Given the description of an element on the screen output the (x, y) to click on. 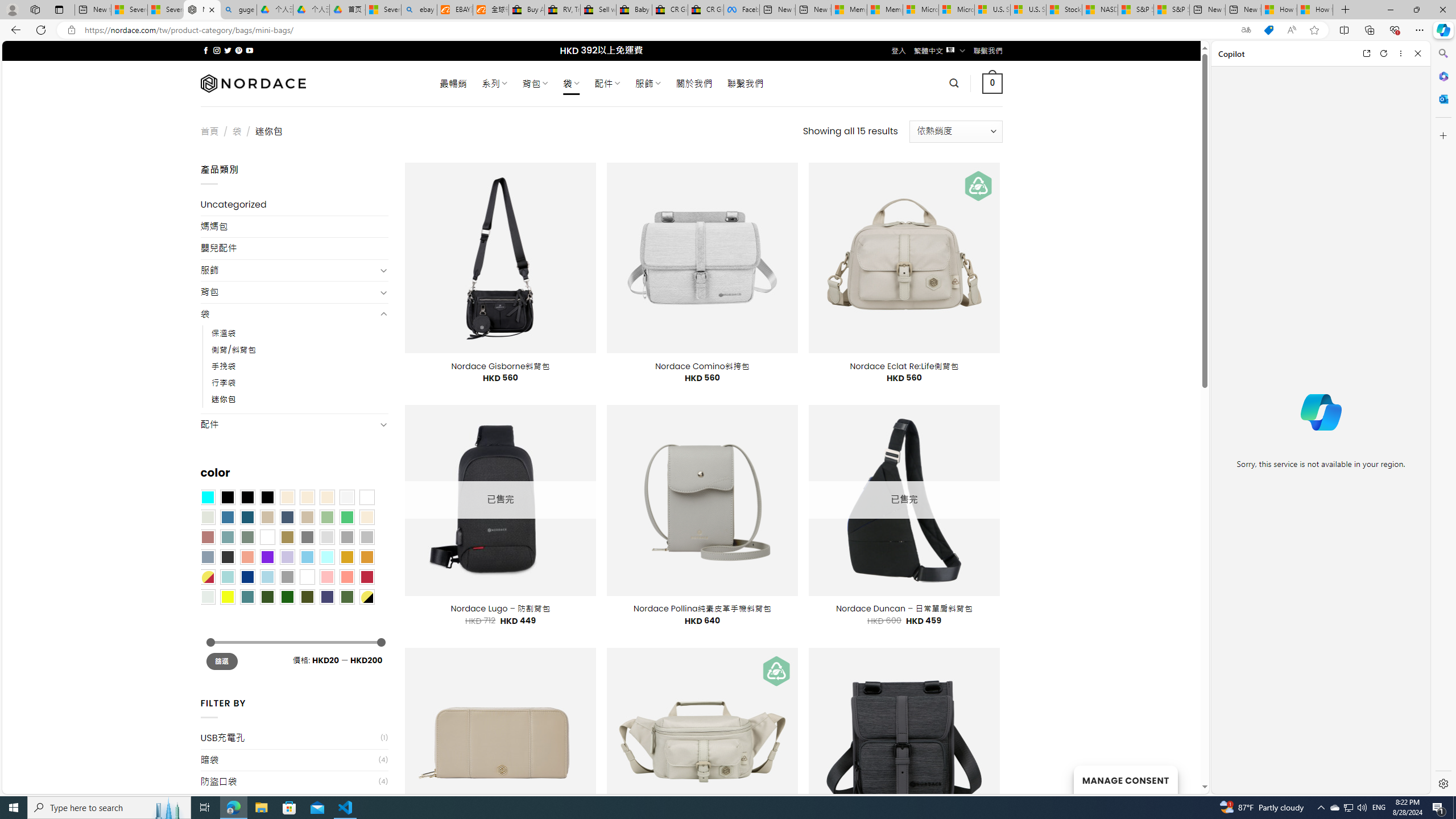
Open link in new tab (1366, 53)
  0   (992, 83)
How to Use a Monitor With Your Closed Laptop (1315, 9)
Settings (1442, 783)
Follow on YouTube (249, 50)
Follow on Twitter (227, 50)
